Given the description of an element on the screen output the (x, y) to click on. 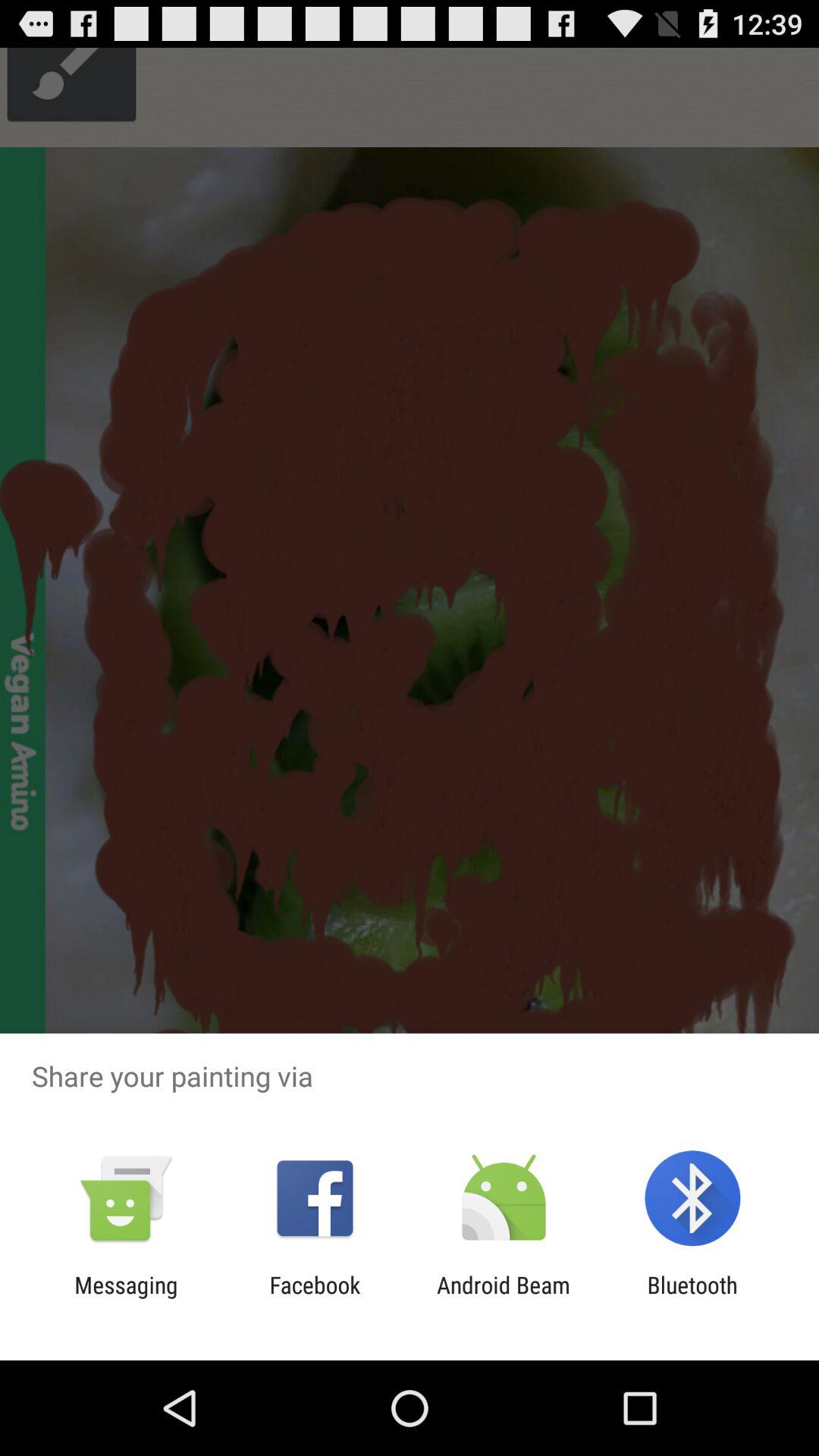
select the item to the right of messaging app (314, 1298)
